Given the description of an element on the screen output the (x, y) to click on. 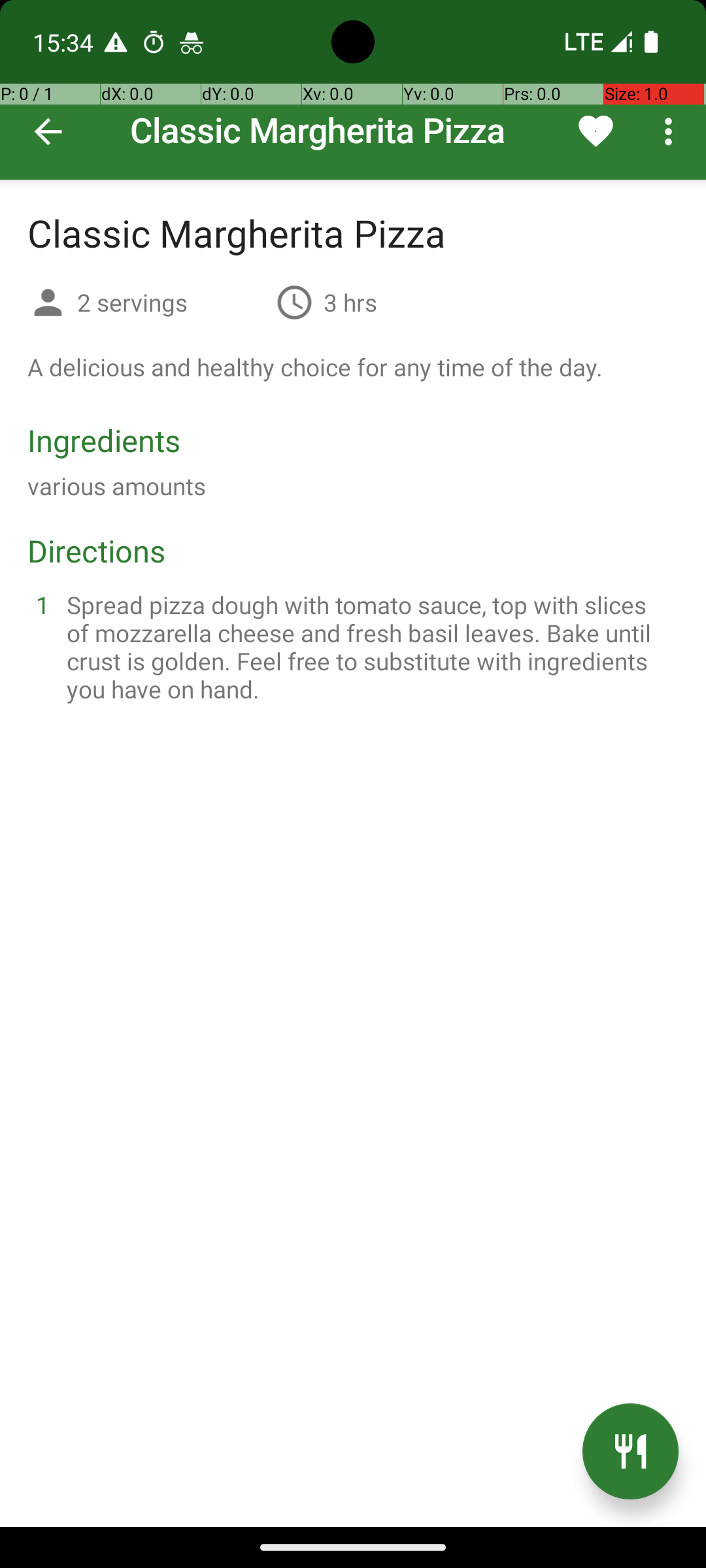
Spread pizza dough with tomato sauce, top with slices of mozzarella cheese and fresh basil leaves. Bake until crust is golden. Feel free to substitute with ingredients you have on hand. Element type: android.widget.TextView (368, 646)
